Given the description of an element on the screen output the (x, y) to click on. 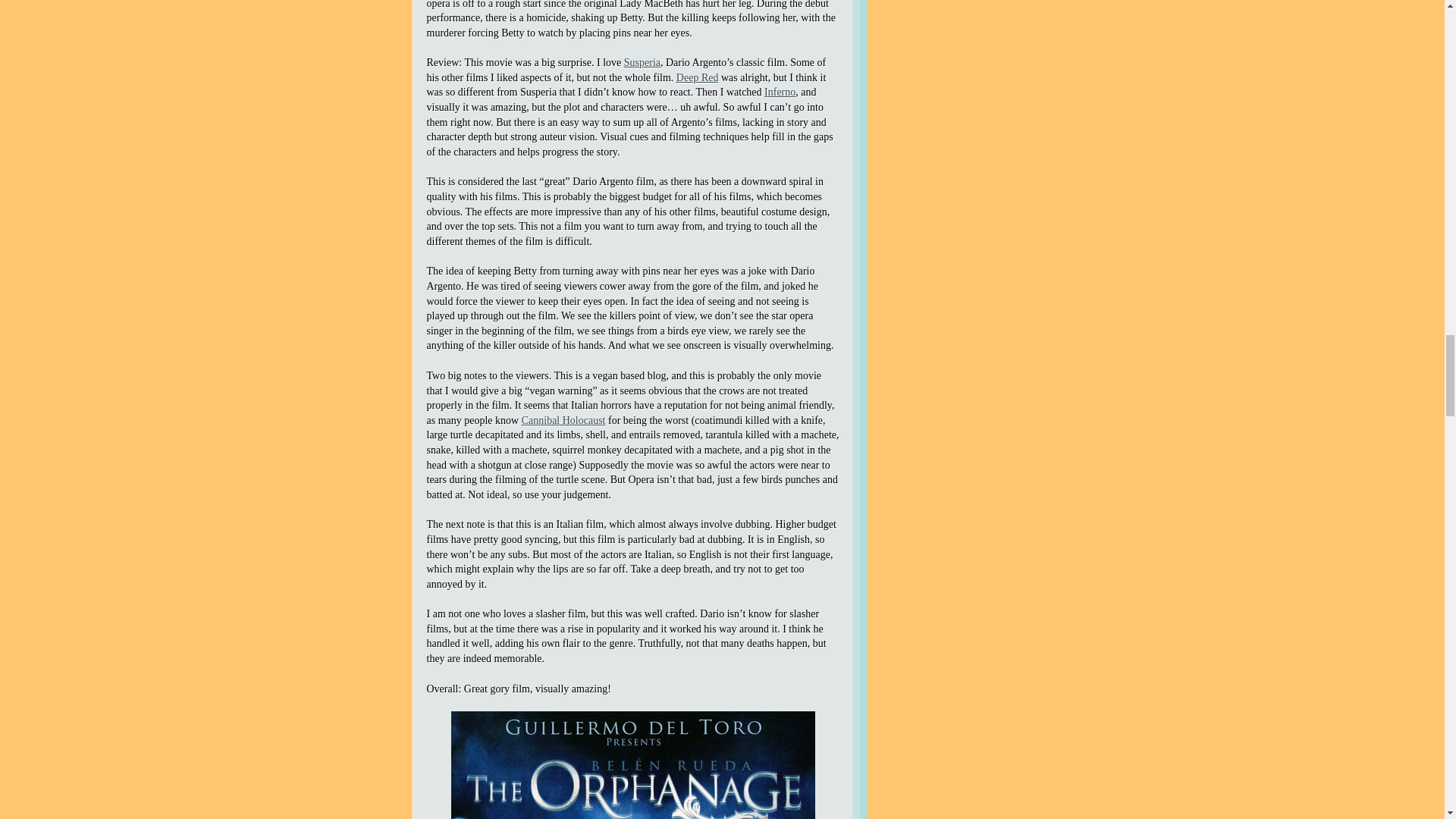
Susperia (642, 61)
Cannibal Holocaust (563, 419)
Deep Red (698, 77)
Inferno (779, 91)
